Given the description of an element on the screen output the (x, y) to click on. 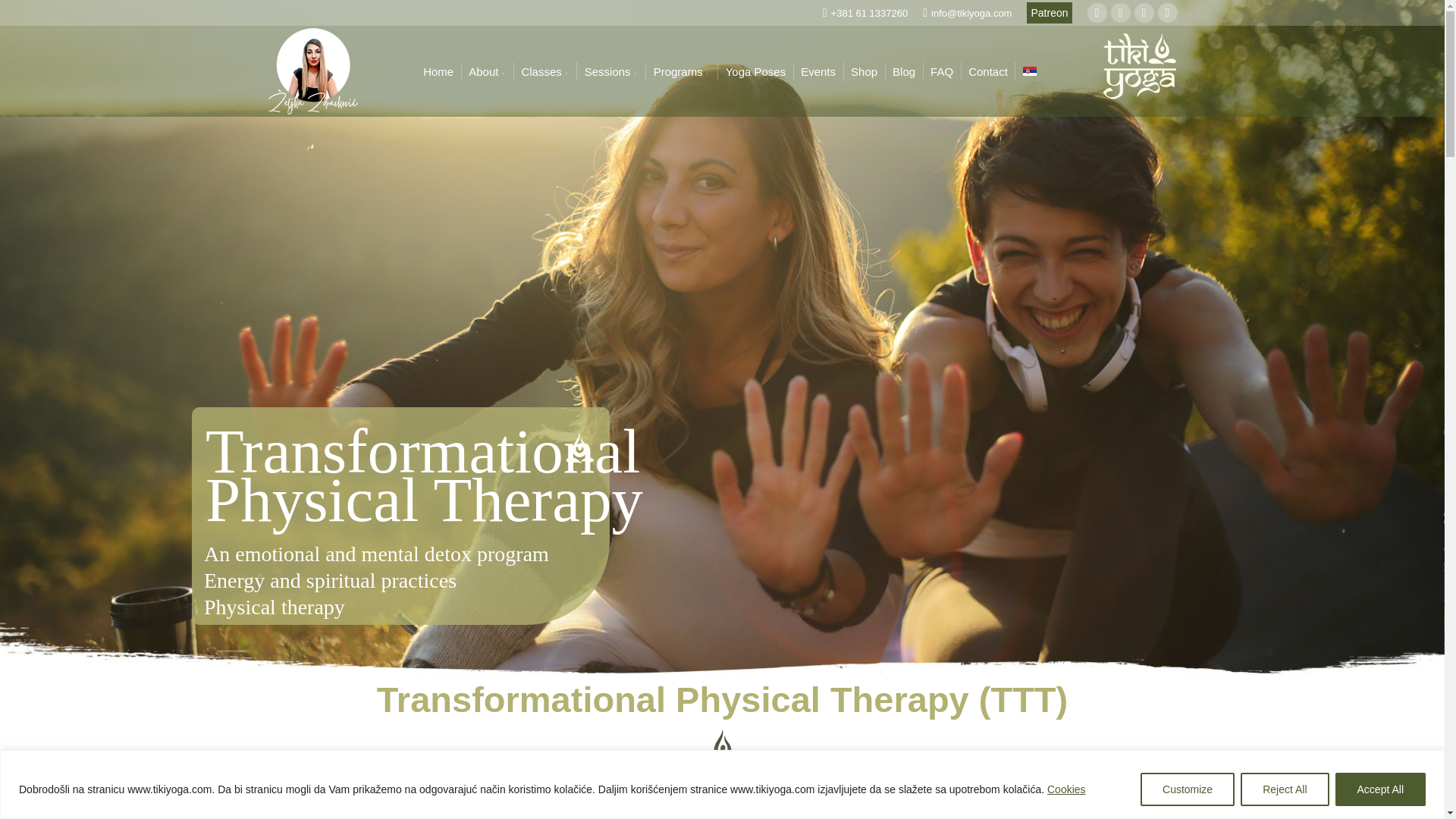
Patreon (1048, 12)
YouTube page opens in new window (1166, 12)
YouTube page opens in new window (1166, 12)
Cookies (1066, 788)
Facebook page opens in new window (1144, 12)
Linkedin page opens in new window (1096, 12)
Accept All (1380, 788)
Customize (1187, 788)
Reject All (1283, 788)
Linkedin page opens in new window (1096, 12)
